Given the description of an element on the screen output the (x, y) to click on. 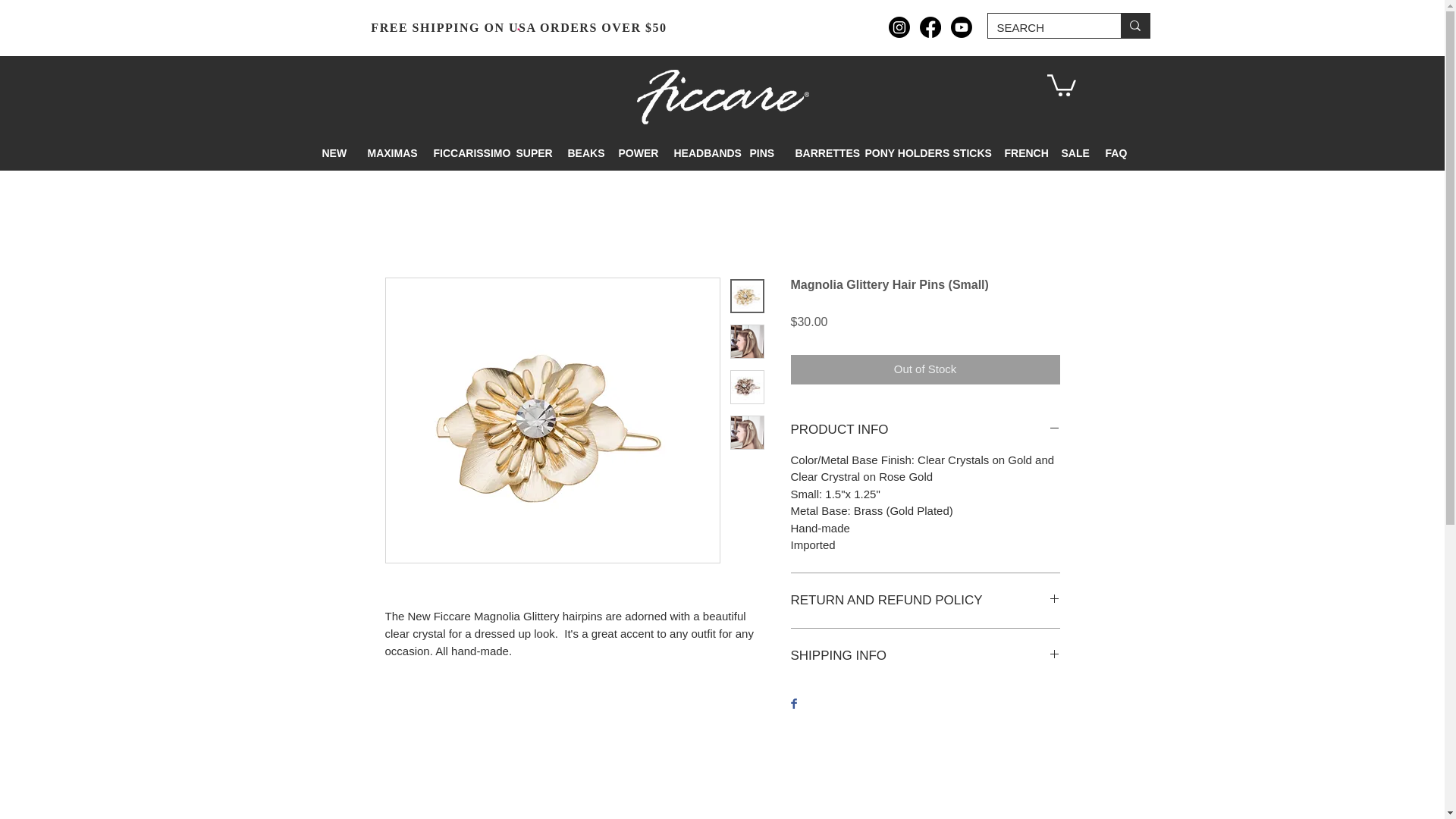
NEW (333, 152)
PONY HOLDERS (897, 152)
PRODUCT INFO (924, 429)
SALE (1071, 152)
STICKS (967, 152)
SUPER (530, 152)
FAQ (1113, 152)
FICCARISSIMO (462, 152)
Out of Stock (924, 369)
MAXIMAS (389, 152)
